Given the description of an element on the screen output the (x, y) to click on. 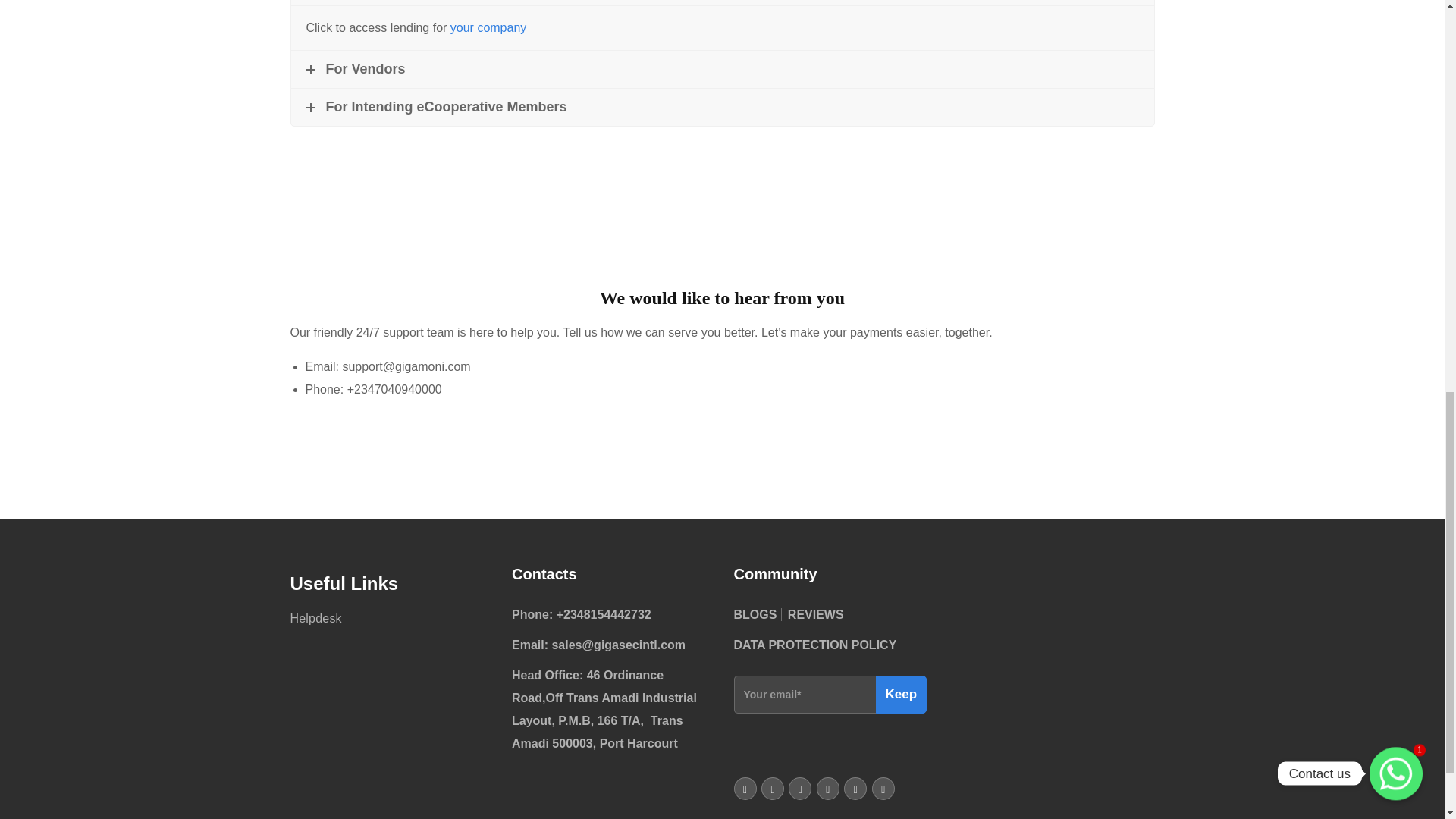
REVIEWS (817, 614)
BLOGS (758, 614)
Keep (900, 694)
For Vendors (722, 68)
For Intending eCooperative Members (722, 107)
DATA PROTECTION POLICY (817, 644)
Keep (900, 694)
your company (488, 27)
Helpdesk (314, 617)
